Given the description of an element on the screen output the (x, y) to click on. 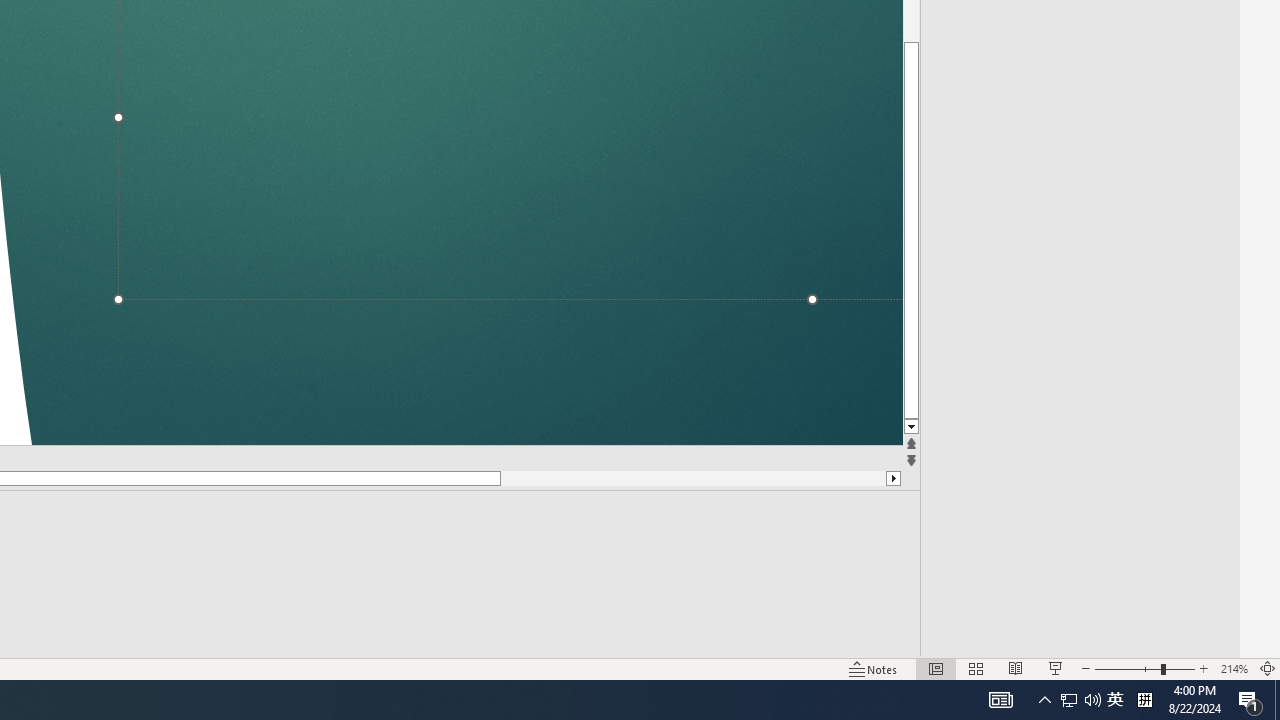
Zoom 214% (1234, 668)
Notes  (874, 668)
Line down (911, 427)
Page down (561, 478)
